Given the description of an element on the screen output the (x, y) to click on. 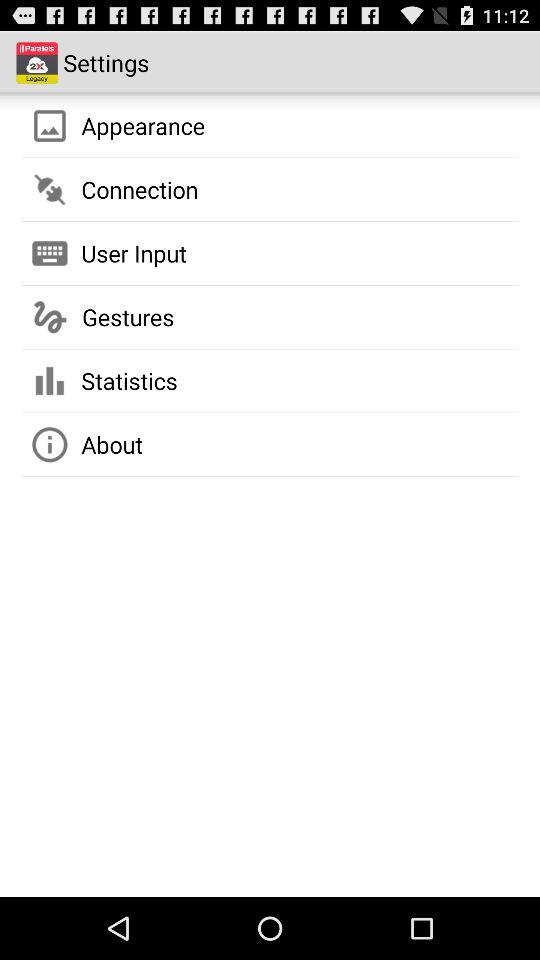
click app below statistics item (111, 444)
